Given the description of an element on the screen output the (x, y) to click on. 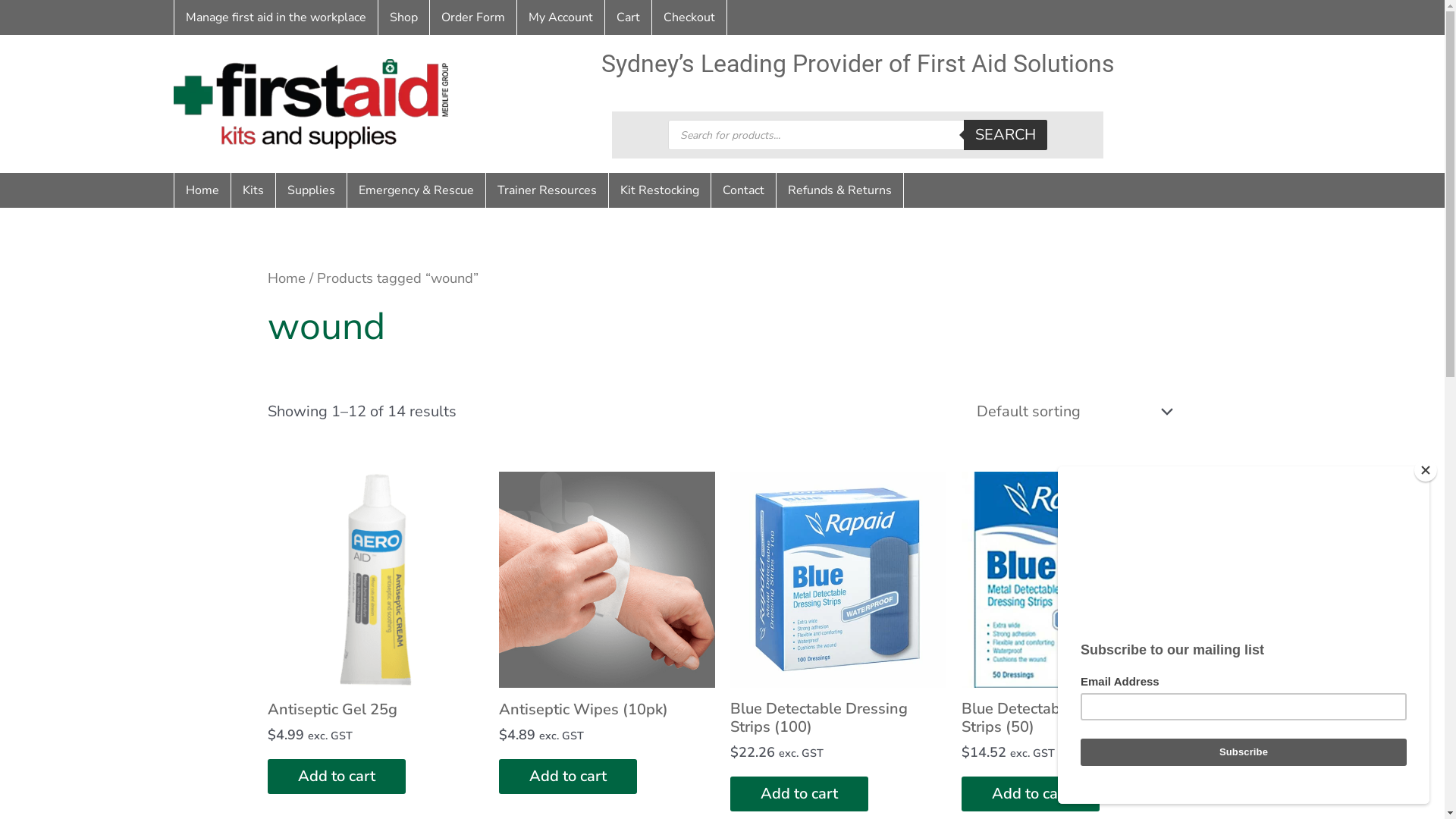
Antiseptic Gel 25g Element type: text (331, 713)
Add to cart Element type: text (1030, 793)
Kit Restocking Element type: text (659, 189)
Trainer Resources Element type: text (547, 189)
SEARCH Element type: text (1005, 134)
My Account Element type: text (560, 17)
Order Form Element type: text (472, 17)
Emergency & Rescue Element type: text (416, 189)
Manage first aid in the workplace Element type: text (275, 17)
Cart Element type: text (628, 17)
Add to cart Element type: text (798, 793)
Add to cart Element type: text (567, 776)
Shop Element type: text (403, 17)
Refunds & Returns Element type: text (839, 189)
Home Element type: text (202, 189)
Kits Element type: text (253, 189)
Home Element type: text (285, 277)
Antiseptic Wipes (10pk) Element type: text (583, 713)
Blue Detectable Dressing Strips (100) Element type: text (837, 721)
Checkout Element type: text (689, 17)
Blue Detectable Dressing Strips (50) Element type: text (1069, 721)
Contact Element type: text (743, 189)
Add to cart Element type: text (335, 776)
Supplies Element type: text (311, 189)
